Given the description of an element on the screen output the (x, y) to click on. 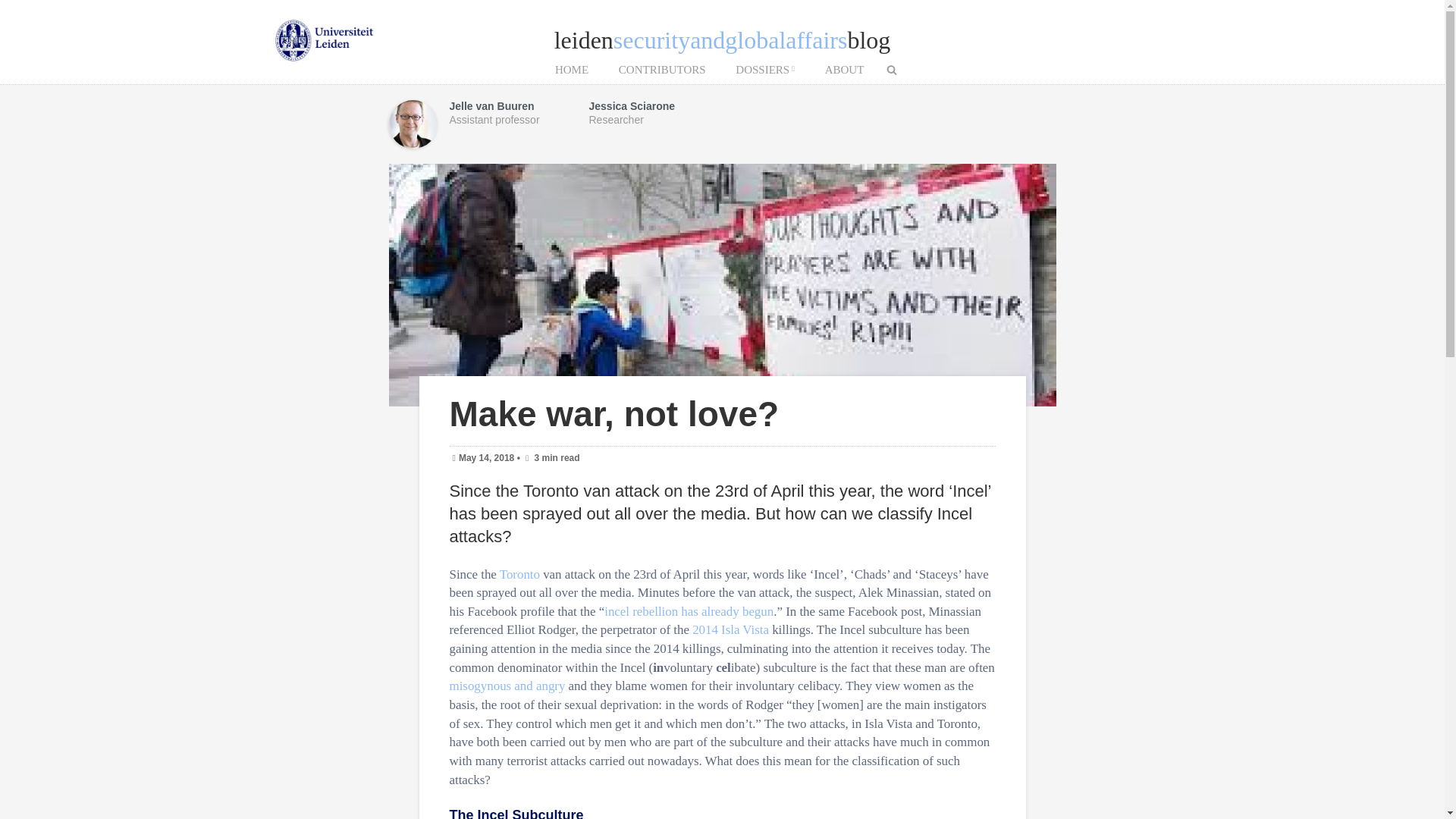
CONTRIBUTORS (662, 69)
HOME (571, 69)
incel rebellion has already begun (688, 611)
DOSSIERS (765, 69)
Toronto (519, 574)
2014 Isla Vista (730, 629)
ABOUT (843, 69)
misogynous and angry (506, 685)
